Given the description of an element on the screen output the (x, y) to click on. 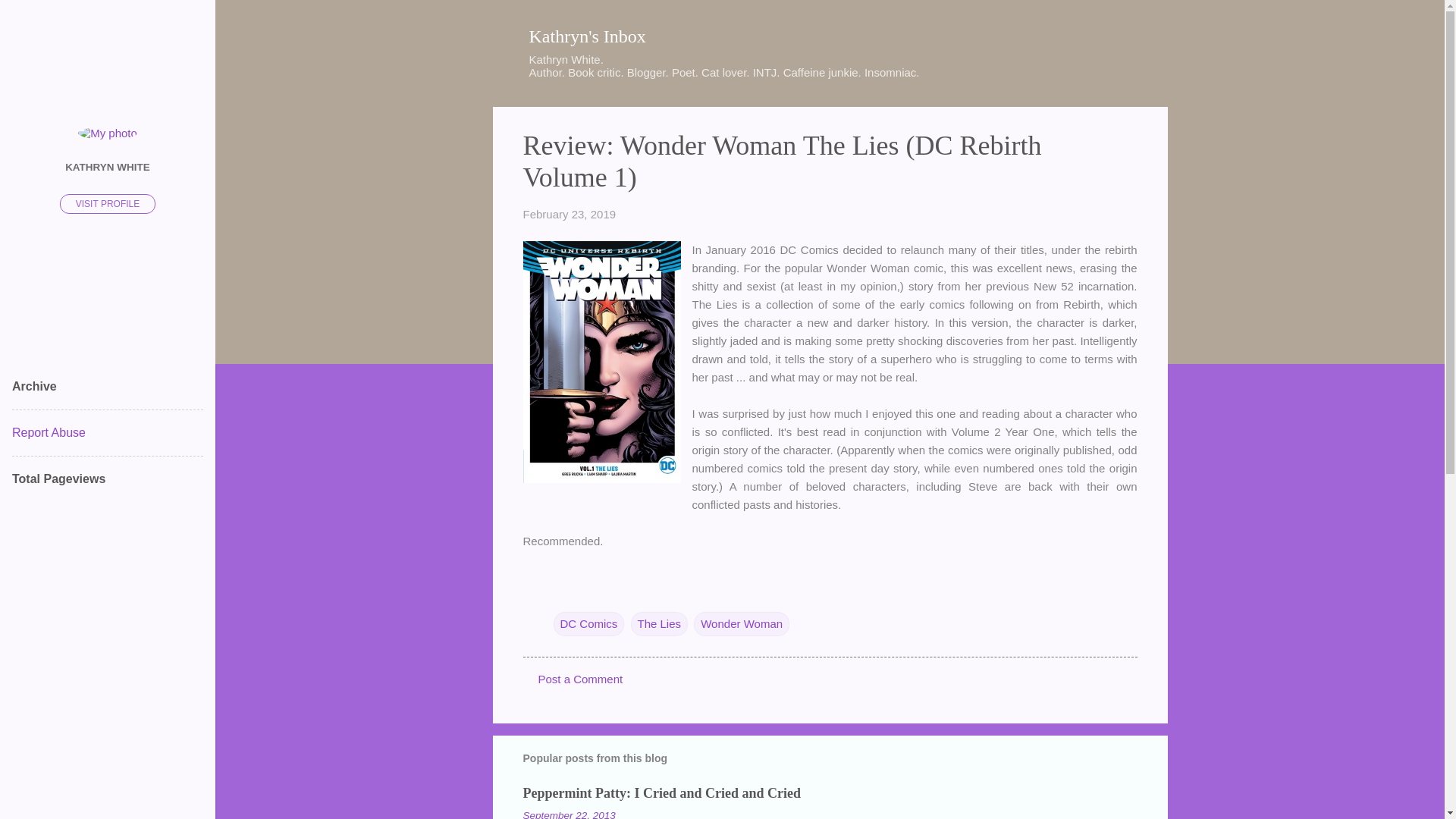
Post a Comment (580, 678)
permanent link (568, 214)
September 22, 2013 (568, 814)
Kathryn's Inbox (587, 35)
Peppermint Patty: I Cried and Cried and Cried (661, 792)
February 23, 2019 (568, 214)
VISIT PROFILE (107, 203)
Wonder Woman (741, 622)
KATHRYN WHITE (107, 166)
Email Post (562, 593)
